Given the description of an element on the screen output the (x, y) to click on. 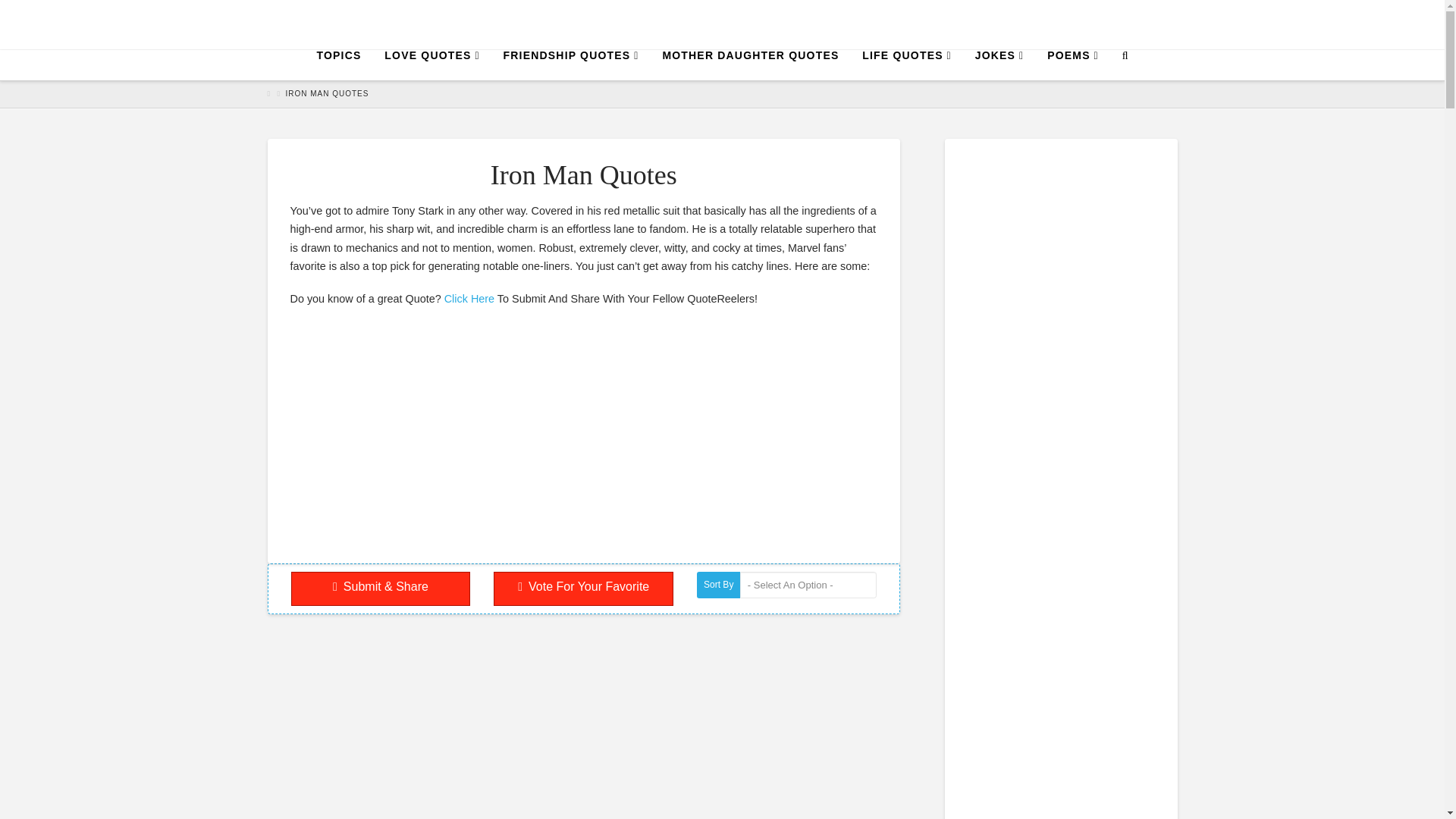
LIFE QUOTES (906, 64)
You Are Here (326, 93)
FRIENDSHIP QUOTES (571, 64)
MOTHER DAUGHTER QUOTES (749, 64)
Popular Quotes and Sayings (722, 24)
TOPICS (338, 64)
LOVE QUOTES (431, 64)
